Given the description of an element on the screen output the (x, y) to click on. 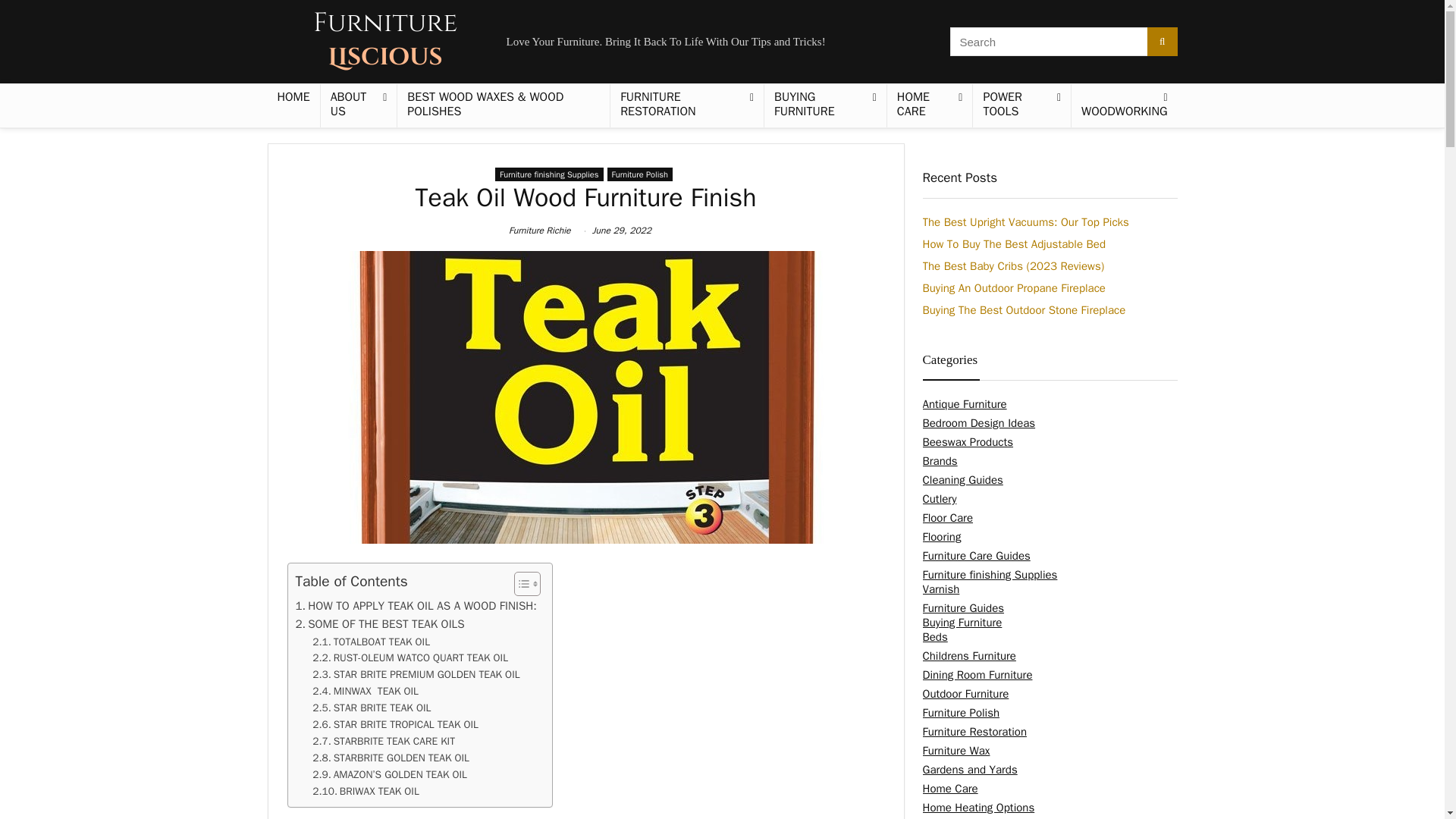
STAR BRITE TEAK OIL (371, 708)
HOME CARE (929, 105)
HOW TO APPLY TEAK OIL AS A WOOD FINISH: (416, 606)
Furniture Polish (639, 173)
SOME OF THE BEST TEAK OILS (379, 624)
FURNITURE RESTORATION (686, 105)
STAR BRITE PREMIUM GOLDEN TEAK OIL (416, 674)
Furniture finishing Supplies (548, 173)
HOW TO APPLY TEAK OIL AS A WOOD FINISH: (416, 606)
